Given the description of an element on the screen output the (x, y) to click on. 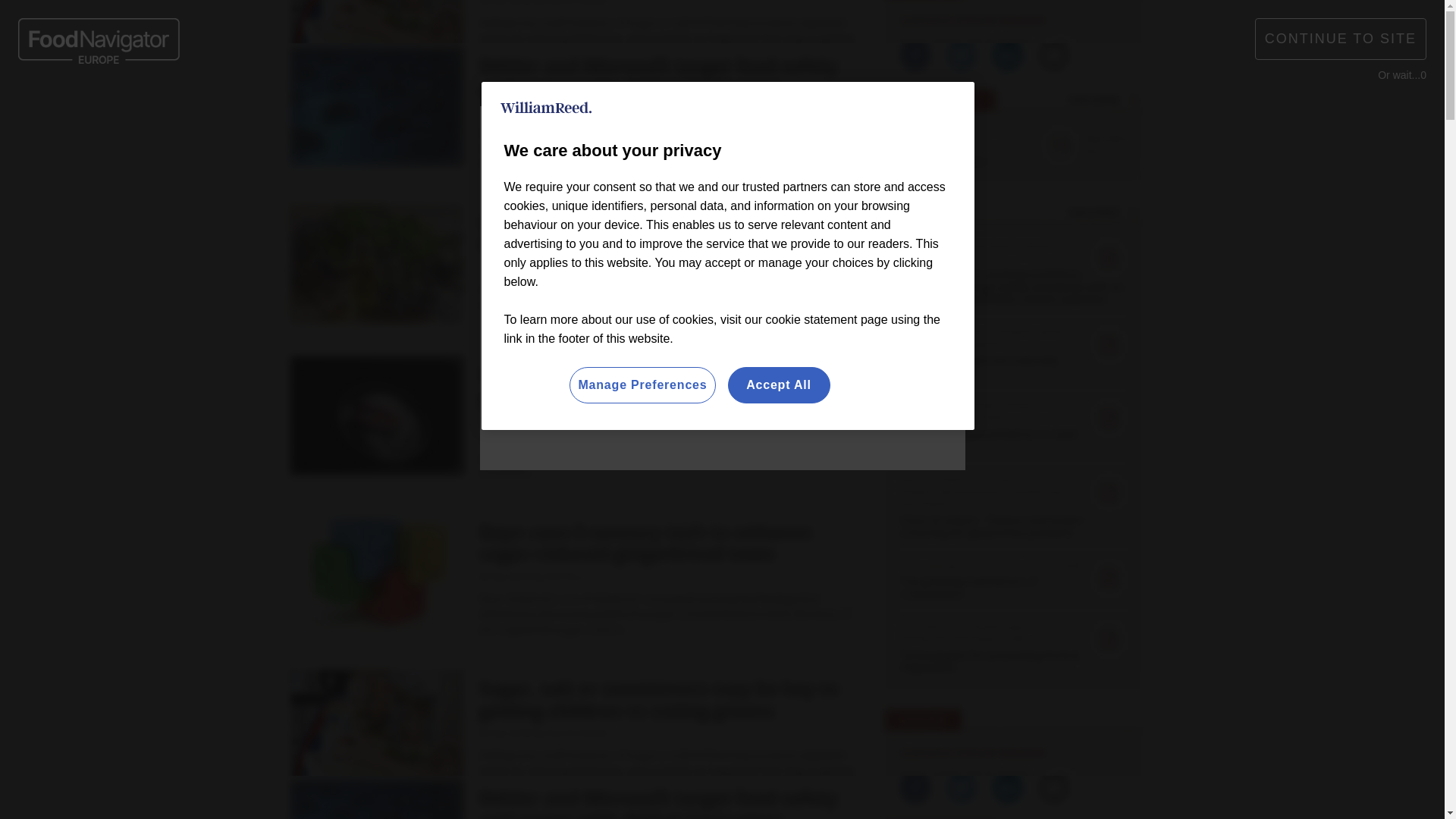
3rd party ad content (1020, 715)
Sign in (1029, 20)
Send (1129, 89)
Home (313, 159)
FoodNavigator Europe (403, 89)
News (360, 159)
ASIA (752, 22)
3rd party ad content (722, 423)
Sectors (420, 159)
REGISTER (1110, 20)
My account (1114, 20)
Sign out (1032, 20)
USA (707, 22)
Send (1129, 90)
